Given the description of an element on the screen output the (x, y) to click on. 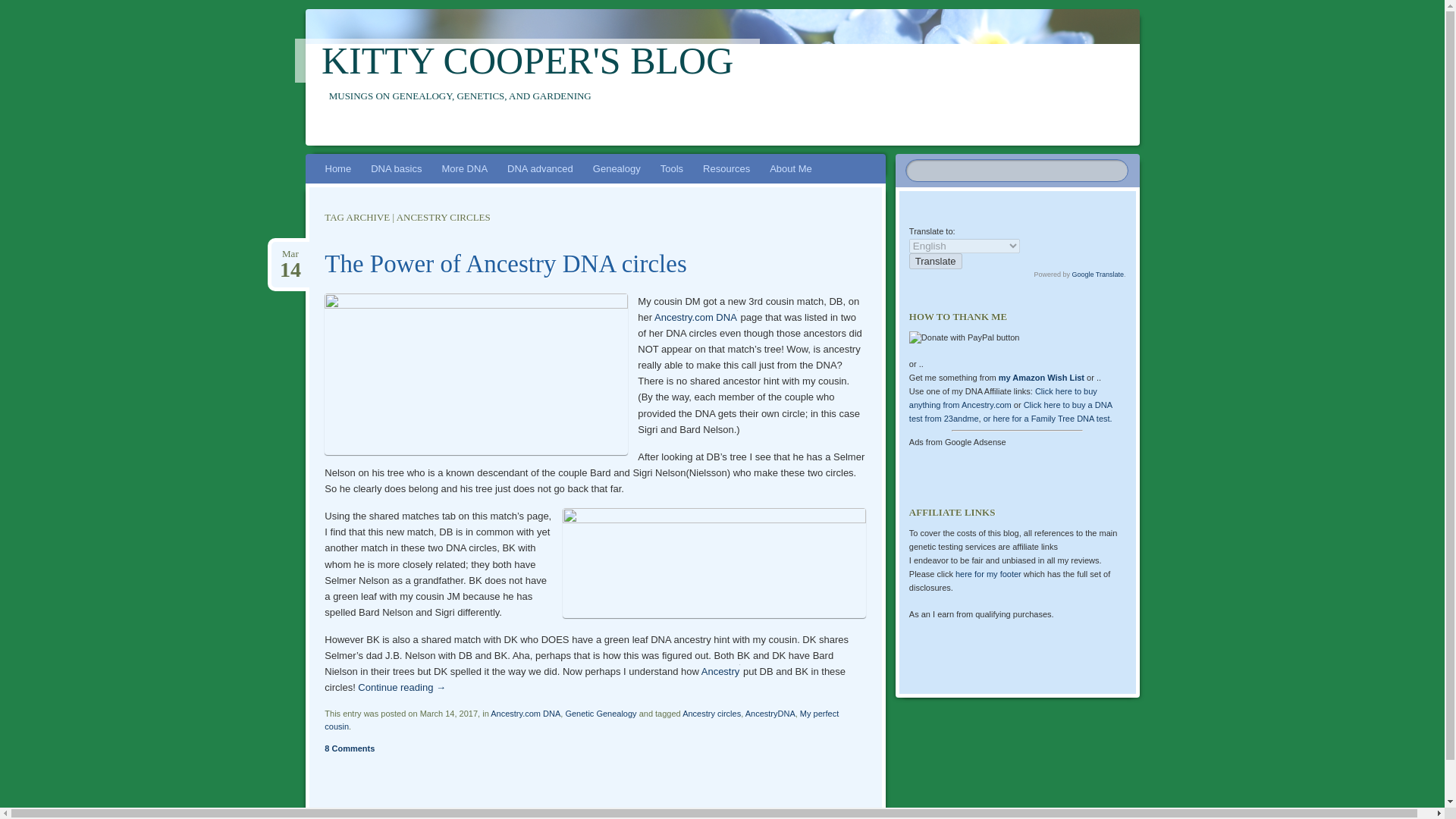
KITTY COOPER'S BLOG (527, 60)
March 14, 2017 (289, 254)
Kitty Cooper's Blog (527, 60)
More DNA (463, 168)
Translate (935, 261)
PayPal - The safer, easier way to pay online! (964, 337)
Home (338, 168)
DNA basics (395, 168)
Skip to content (314, 187)
Skip to content (314, 187)
